Given the description of an element on the screen output the (x, y) to click on. 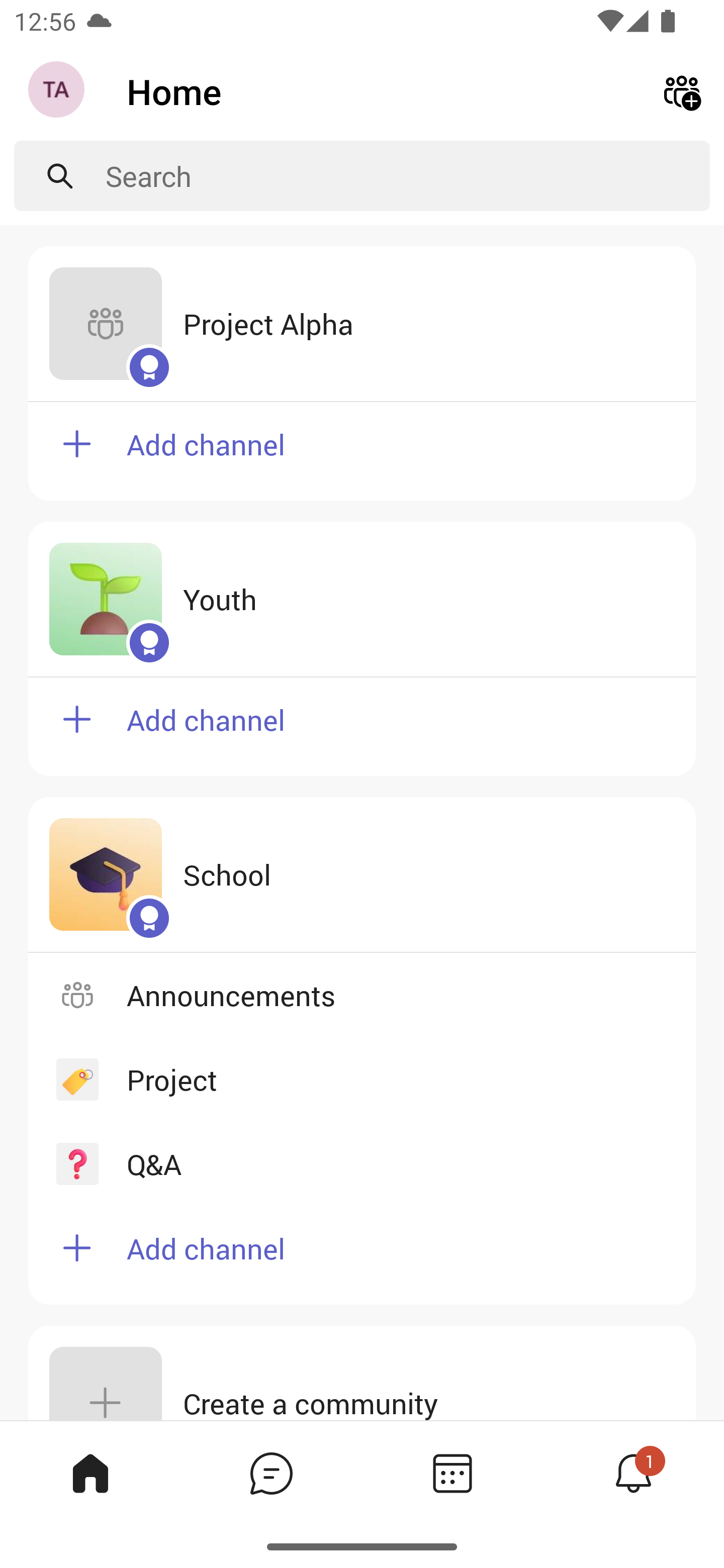
Create new community (681, 90)
Navigation (58, 91)
Search (407, 176)
Project Alpha Community. Project Alpha (361, 323)
Youth Community. Youth (361, 599)
Add a new channel to Youth community Add channel (361, 726)
School Community. School (361, 874)
Announcements Channel. Announcements (361, 995)
Project Channel. Project (361, 1079)
Q&A Channel. Q&A (361, 1163)
Add a new channel to School community Add channel (361, 1254)
Create a community (361, 1373)
Home tab, 1 of 4 (90, 1472)
Chat tab,2 of 4, not selected (271, 1472)
Calendar tab,3 of 4, not selected (452, 1472)
Activity tab,4 of 4, not selected, 1 new 1 (633, 1472)
